Given the description of an element on the screen output the (x, y) to click on. 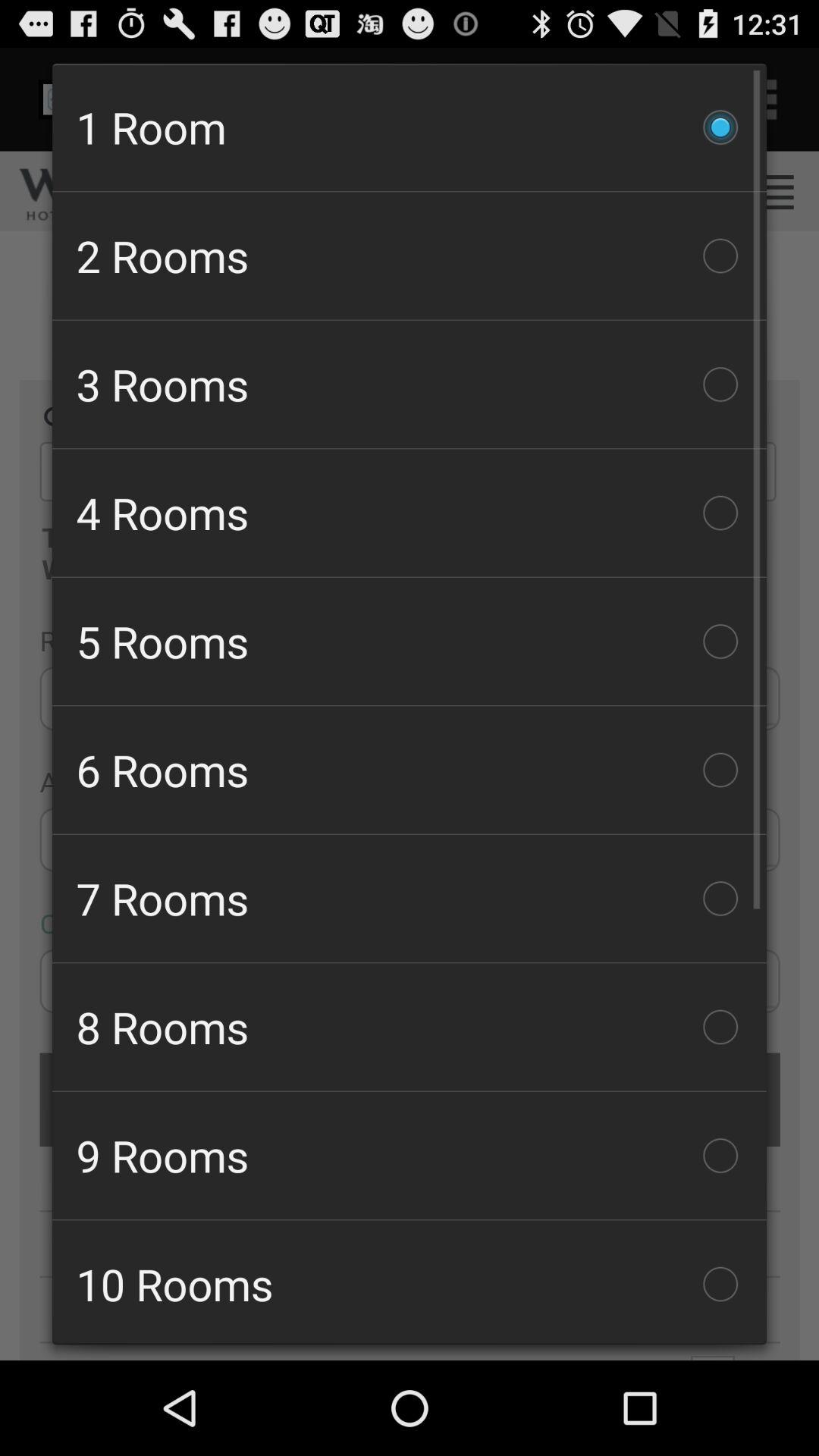
turn off icon below the 3 rooms (409, 512)
